Given the description of an element on the screen output the (x, y) to click on. 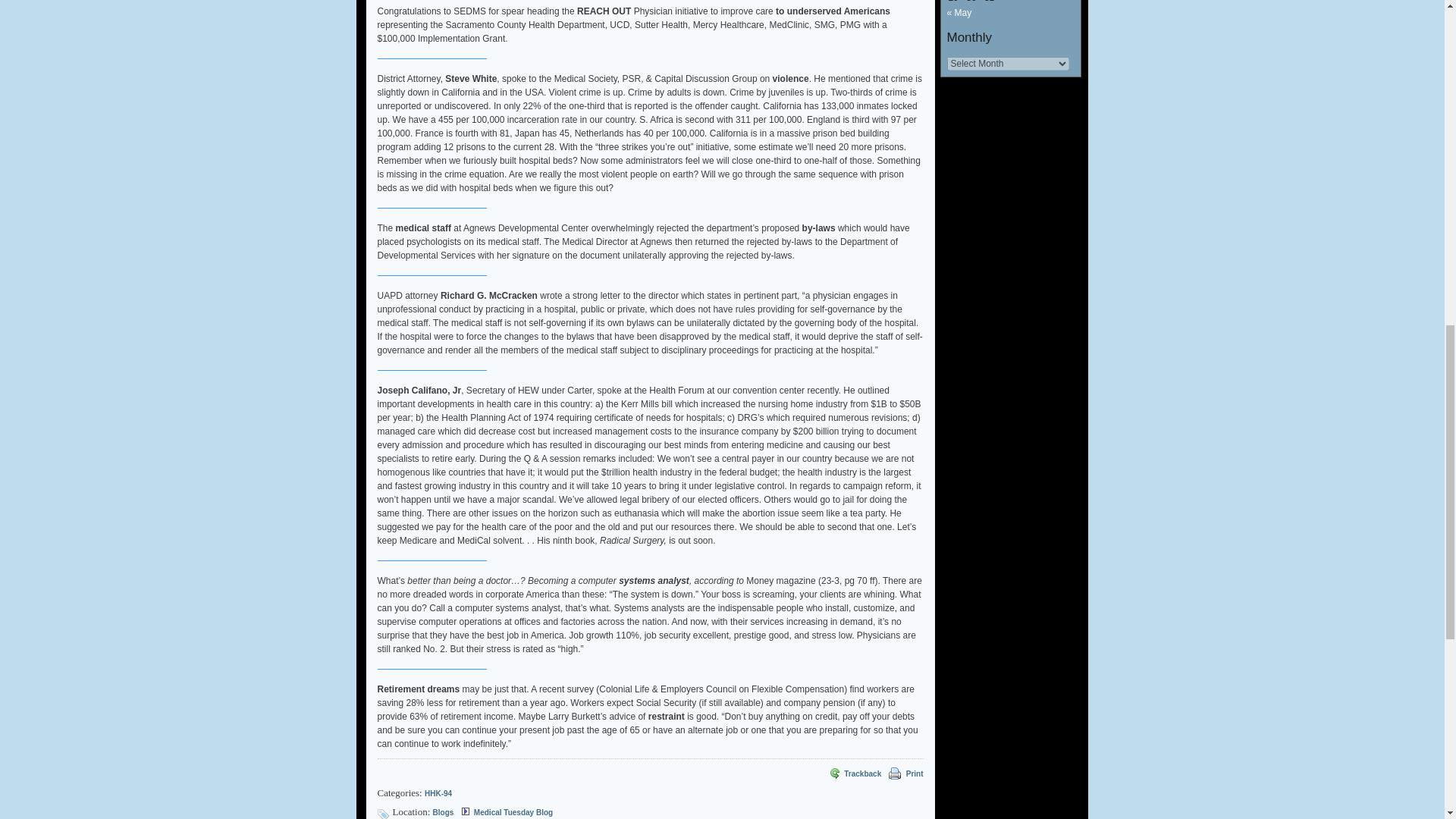
Print (892, 774)
HHK-94 (438, 793)
Medical Tuesday Blog (513, 812)
Print (914, 774)
Print (894, 773)
Blogs (443, 812)
Trackback (854, 774)
Print (914, 774)
